Given the description of an element on the screen output the (x, y) to click on. 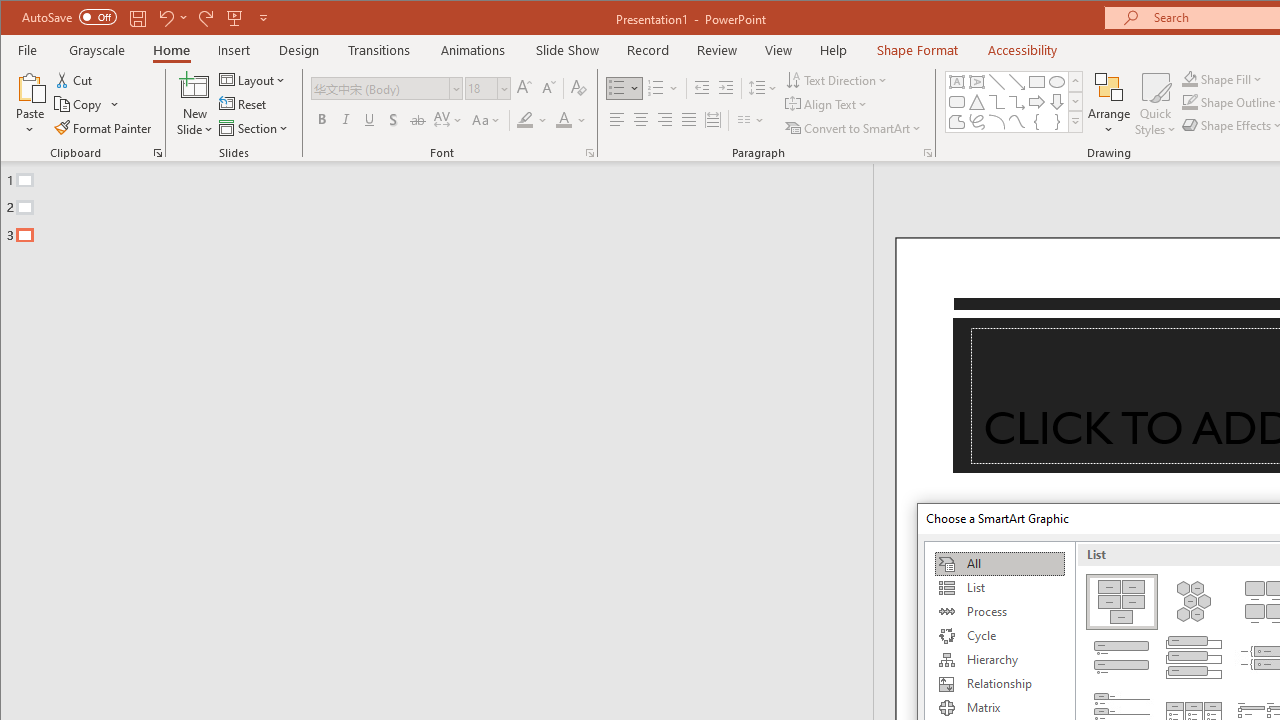
Paragraph... (927, 152)
Hierarchy (999, 659)
Vertical Box List (1194, 658)
Shapes (1074, 121)
Quick Styles (1155, 104)
Cycle (999, 636)
Vertical Text Box (976, 82)
Character Spacing (449, 119)
Change Case (486, 119)
Paste (29, 86)
Rectangle: Rounded Corners (956, 102)
Open (502, 88)
